Given the description of an element on the screen output the (x, y) to click on. 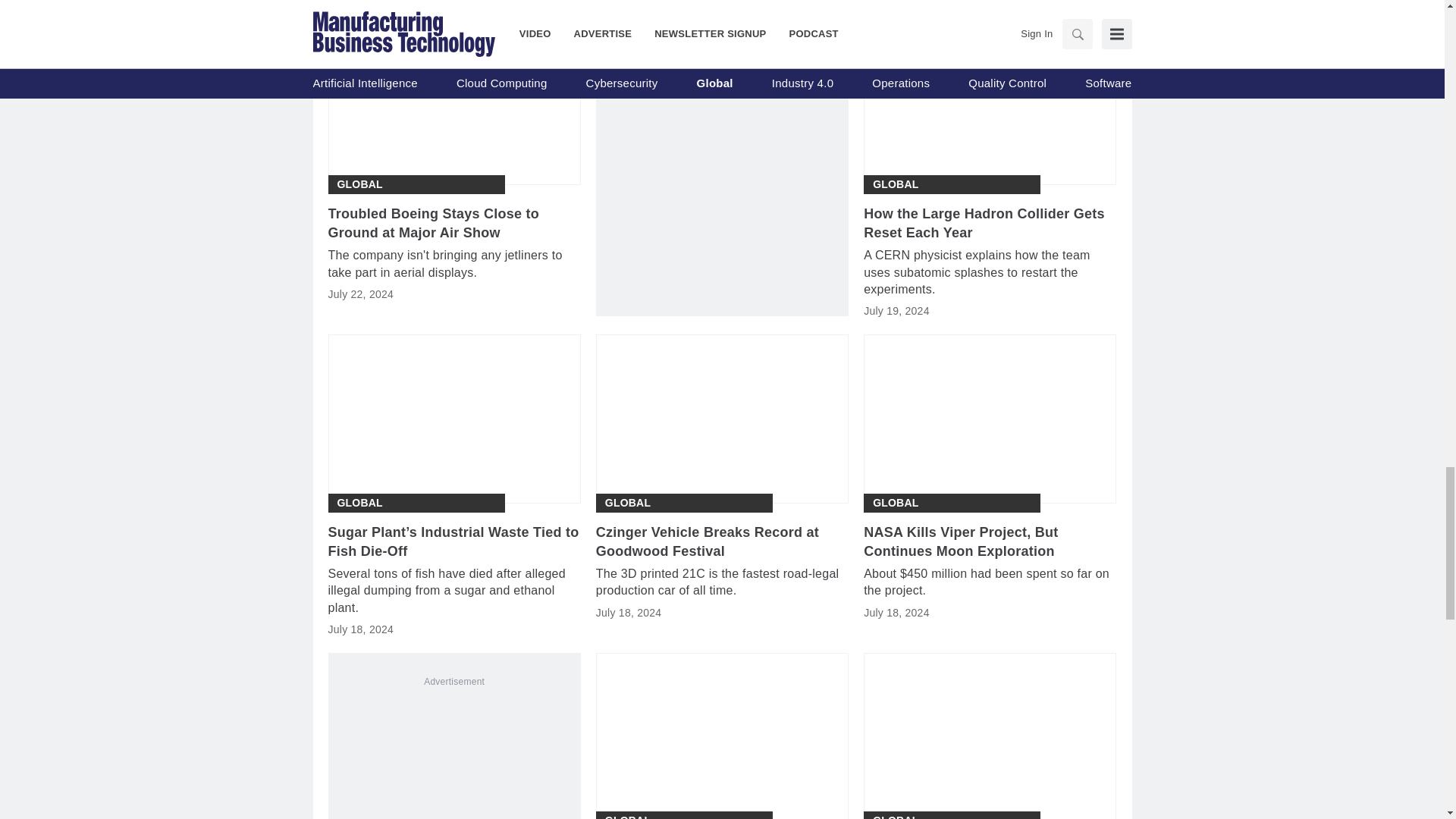
Global (627, 503)
Global (358, 503)
Global (358, 184)
Global (895, 184)
Global (895, 503)
